Given the description of an element on the screen output the (x, y) to click on. 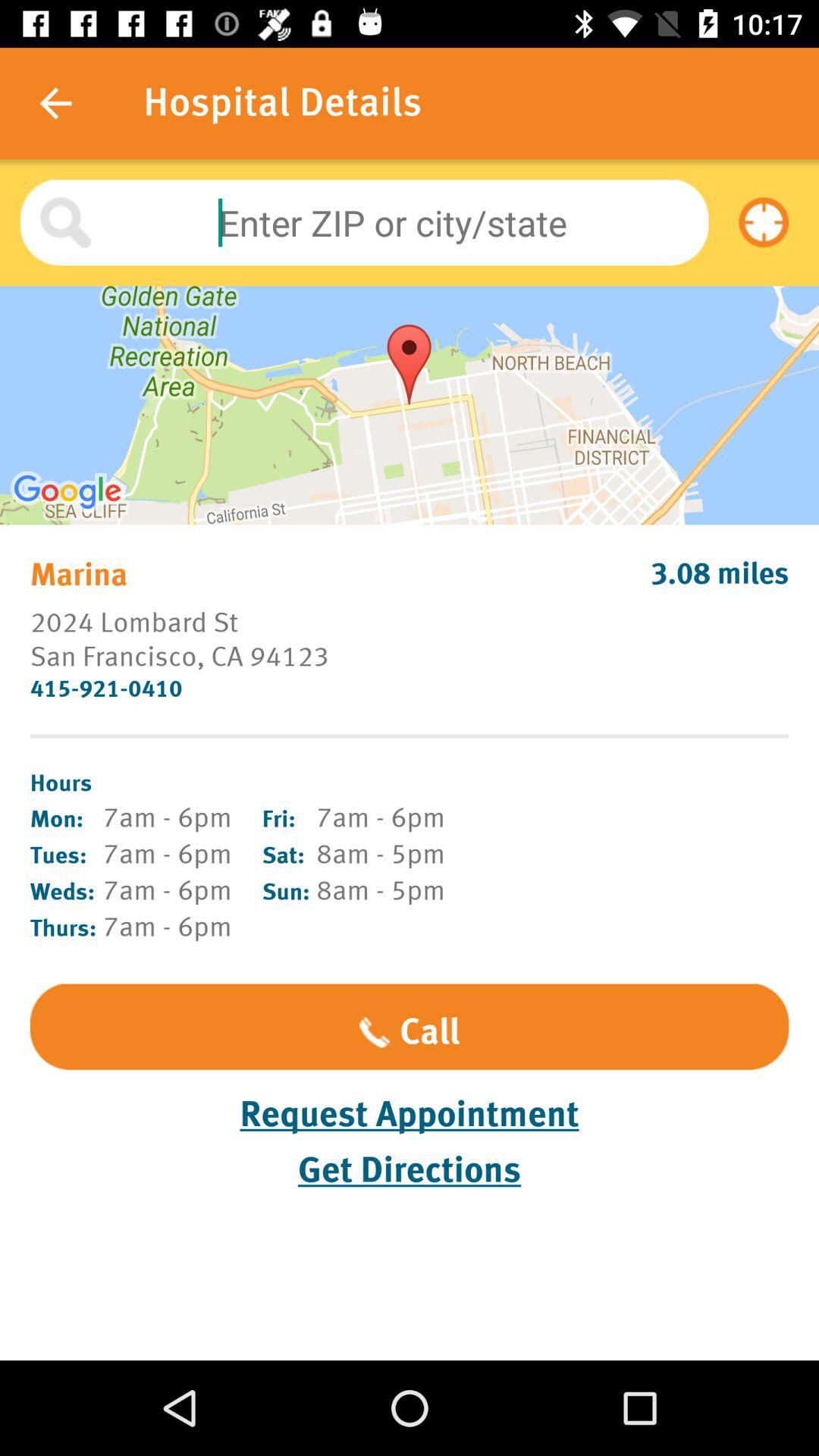
tap the item below san francisco ca (409, 688)
